Given the description of an element on the screen output the (x, y) to click on. 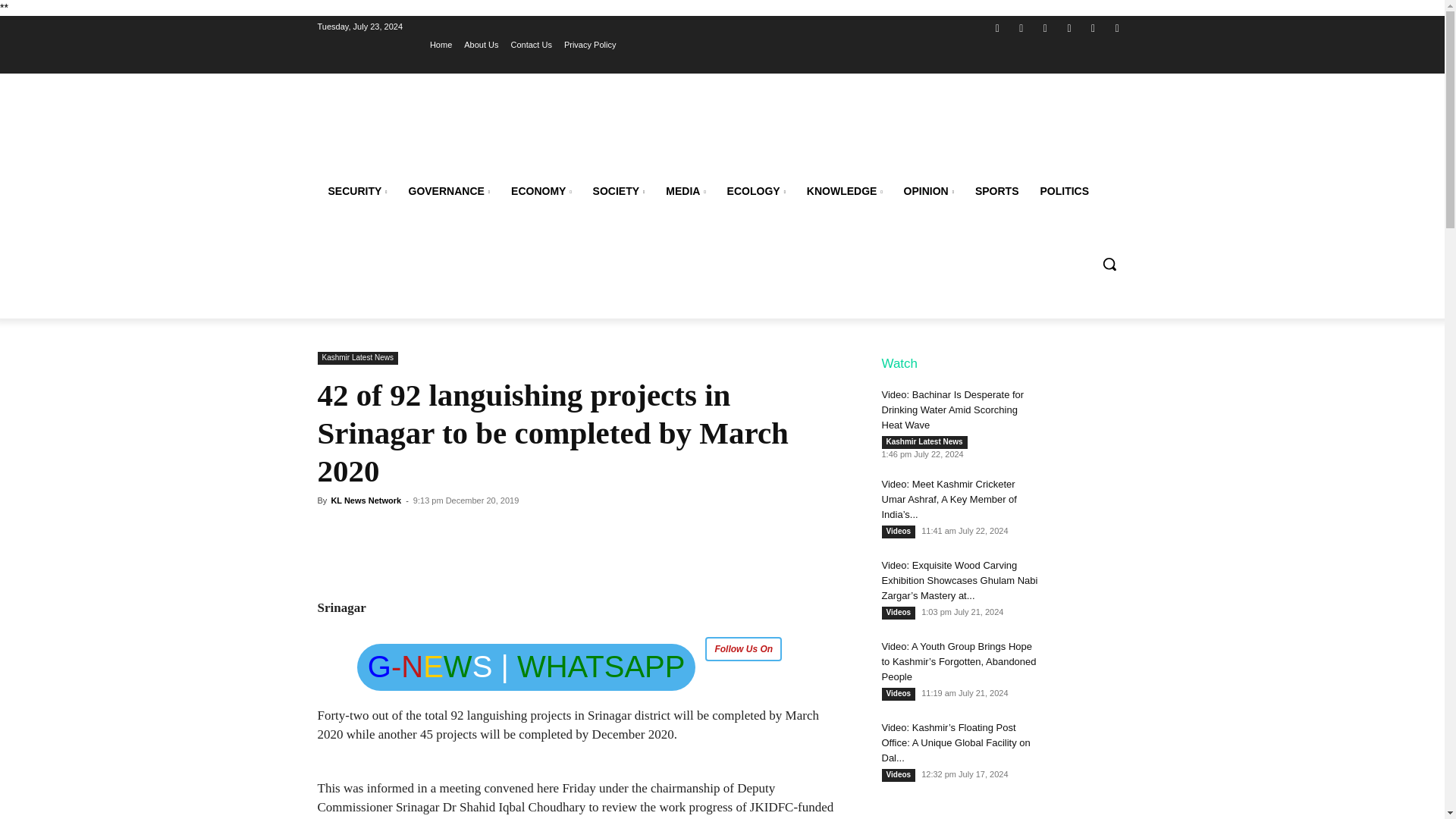
Twitter (1045, 28)
Instagram (1021, 28)
Website (1069, 28)
Youtube (1116, 28)
WhatsApp (1093, 28)
Facebook (997, 28)
